Given the description of an element on the screen output the (x, y) to click on. 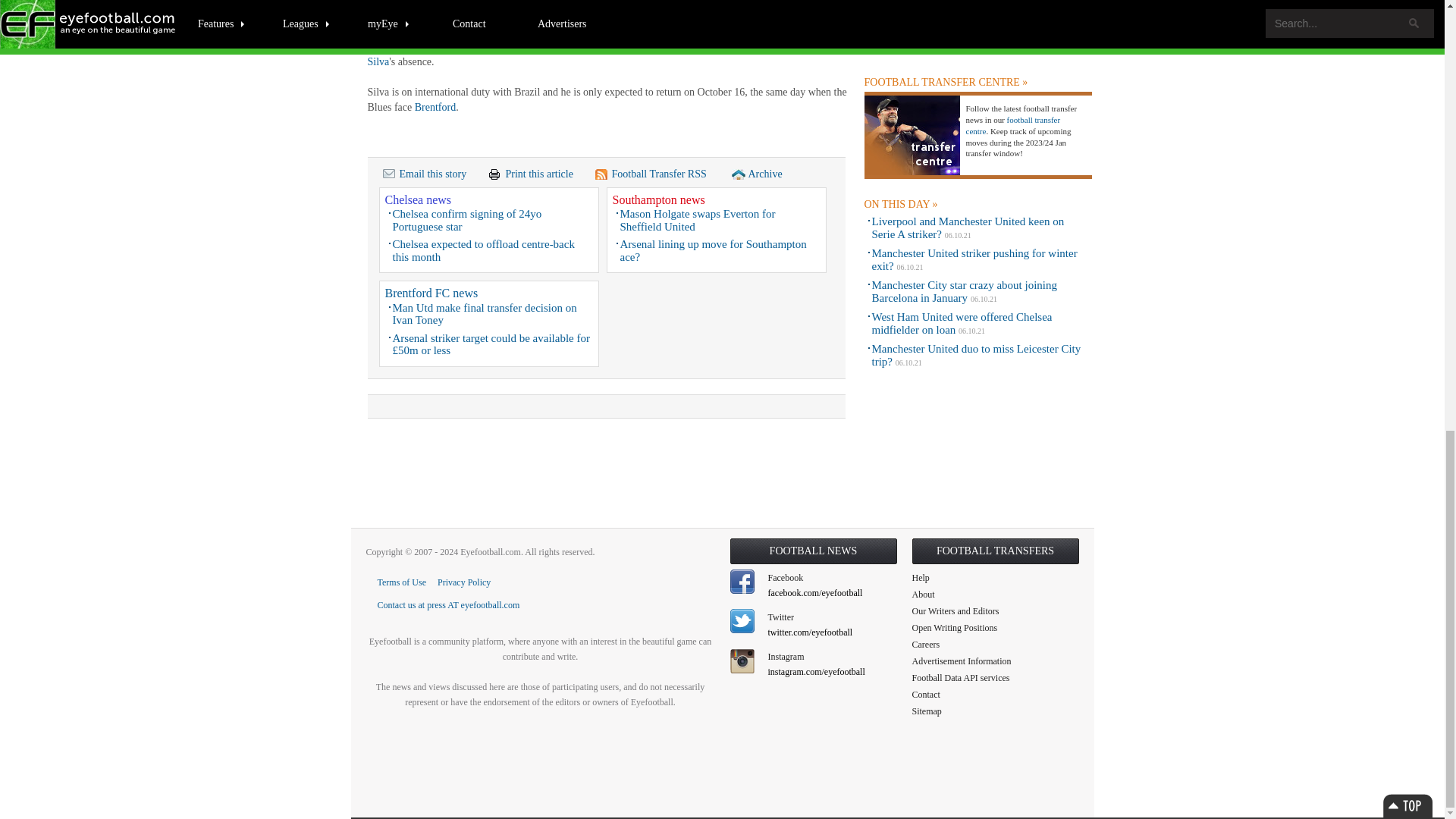
Brentford (758, 46)
Thiago Silva (599, 53)
Brentford (434, 107)
Southampton (553, 46)
